Given the description of an element on the screen output the (x, y) to click on. 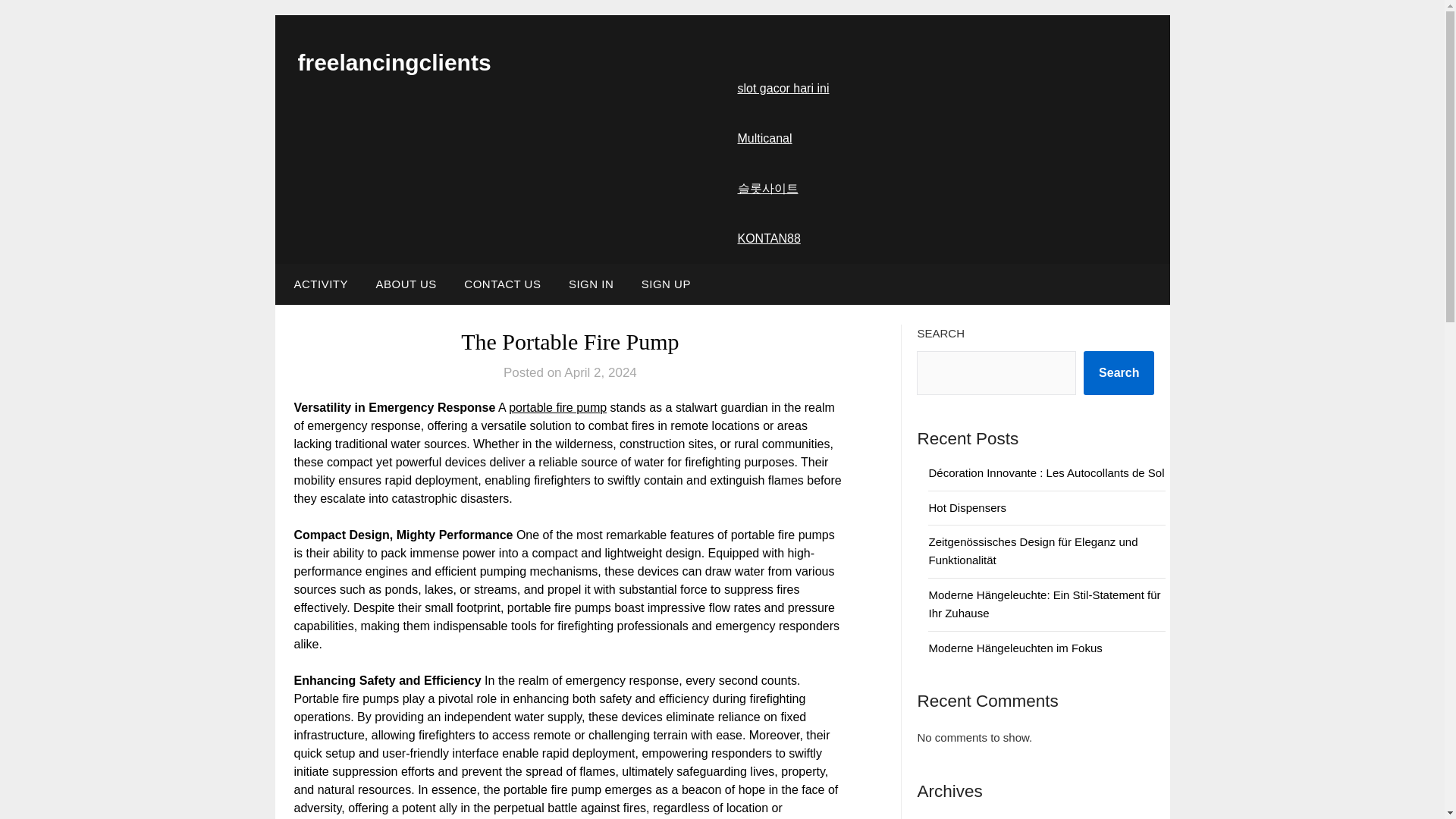
freelancingclients (393, 62)
portable fire pump (557, 407)
Hot Dispensers (967, 507)
ACTIVITY (317, 283)
SIGN IN (591, 283)
CONTACT US (502, 283)
SIGN UP (665, 283)
ABOUT US (405, 283)
Search (1118, 372)
KONTAN88 (767, 237)
slot gacor hari ini (782, 88)
Multicanal (764, 137)
